Given the description of an element on the screen output the (x, y) to click on. 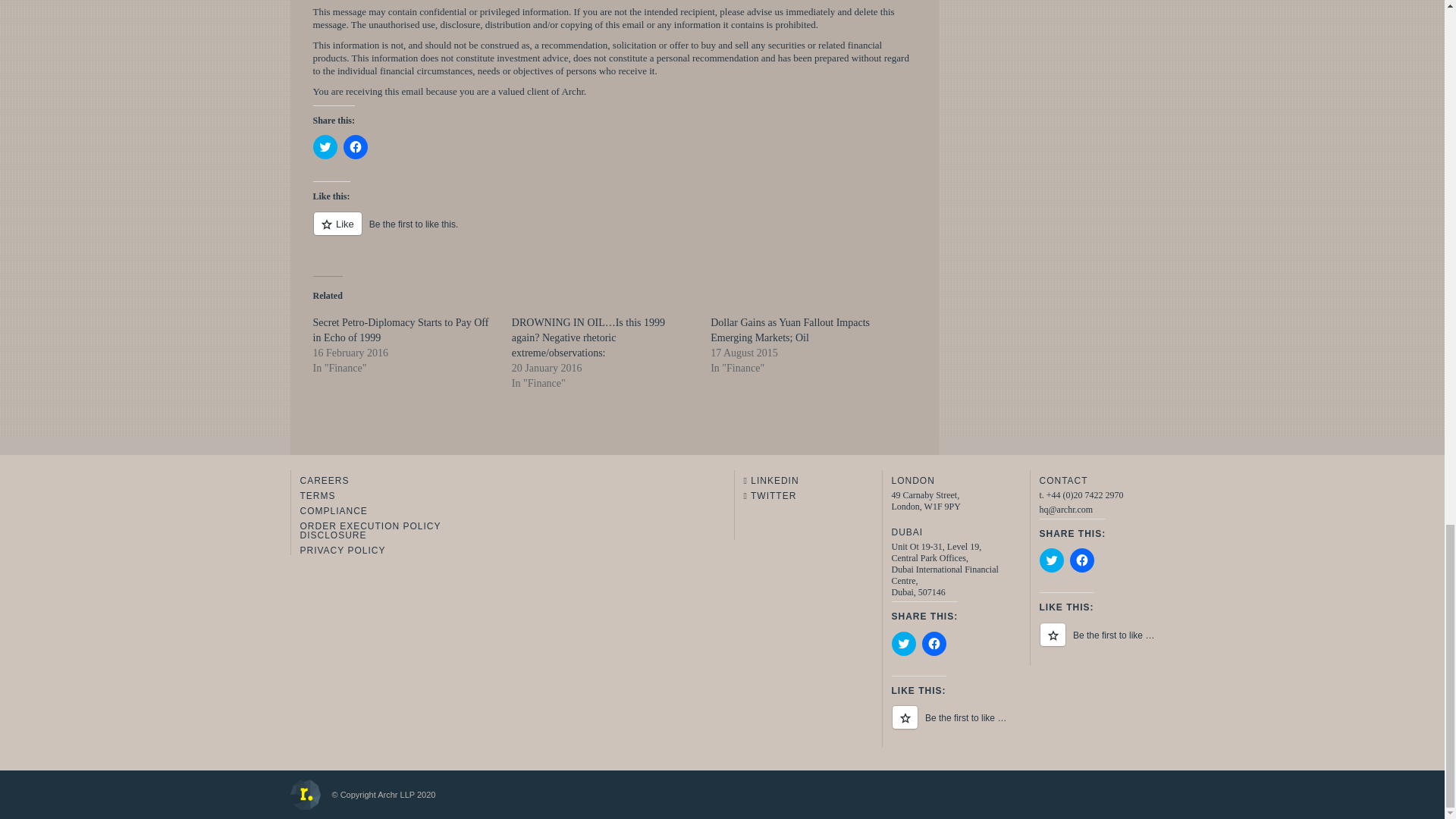
Secret Petro-Diplomacy Starts to Pay Off in Echo of 1999 (400, 329)
Click to share on Twitter (903, 643)
Click to share on Twitter (1050, 559)
Like or Reblog (1096, 643)
Dollar Gains as Yuan Fallout Impacts Emerging Markets; Oil (789, 329)
LINKEDIN (796, 477)
Click to share on Twitter (324, 146)
Like or Reblog (949, 725)
Dollar Gains as Yuan Fallout Impacts Emerging Markets; Oil (789, 329)
Like or Reblog (614, 232)
